Given the description of an element on the screen output the (x, y) to click on. 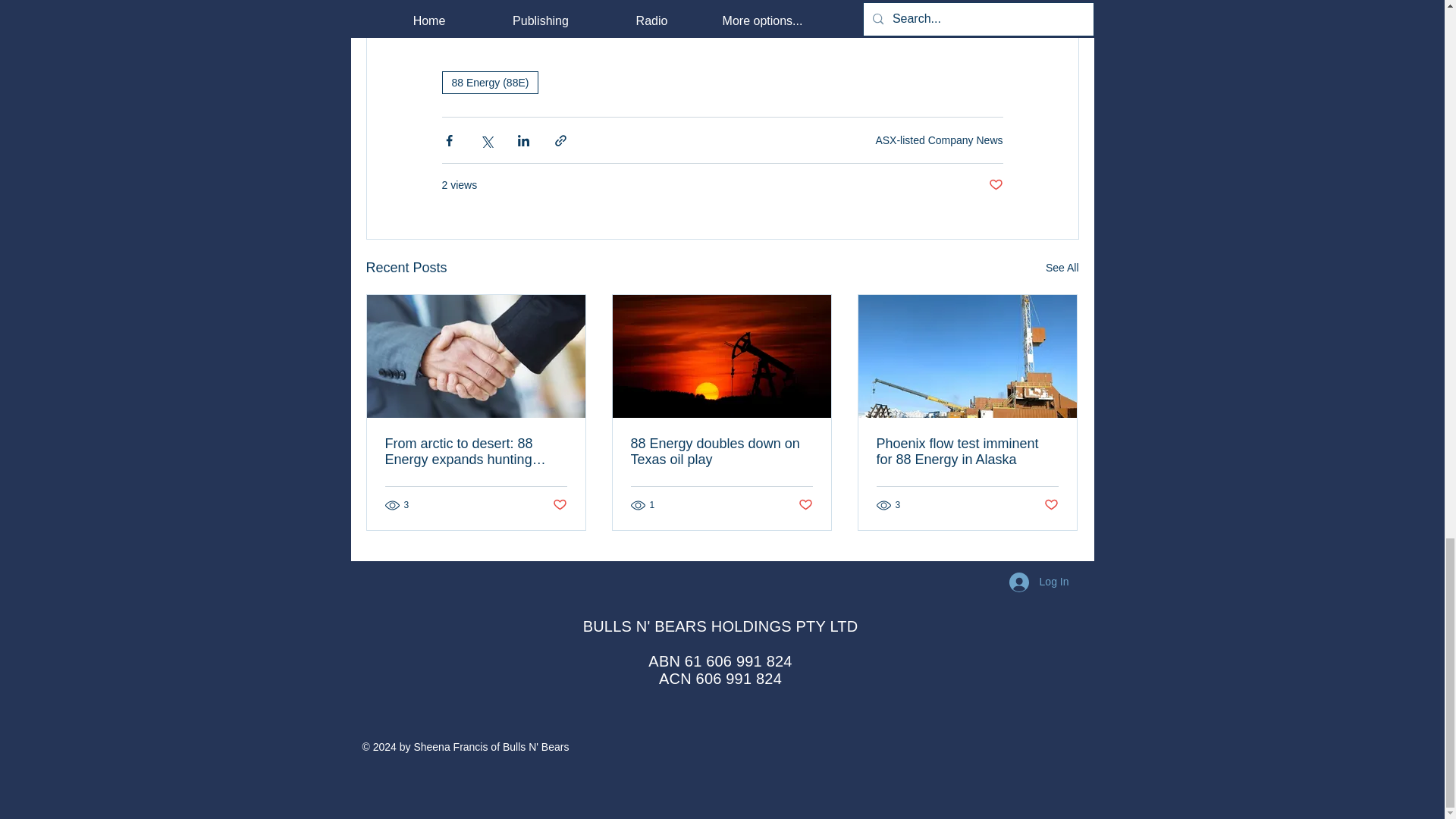
From arctic to desert: 88 Energy expands hunting ground (476, 451)
Post not marked as liked (995, 185)
ASX-listed Company News (939, 140)
See All (1061, 268)
